Given the description of an element on the screen output the (x, y) to click on. 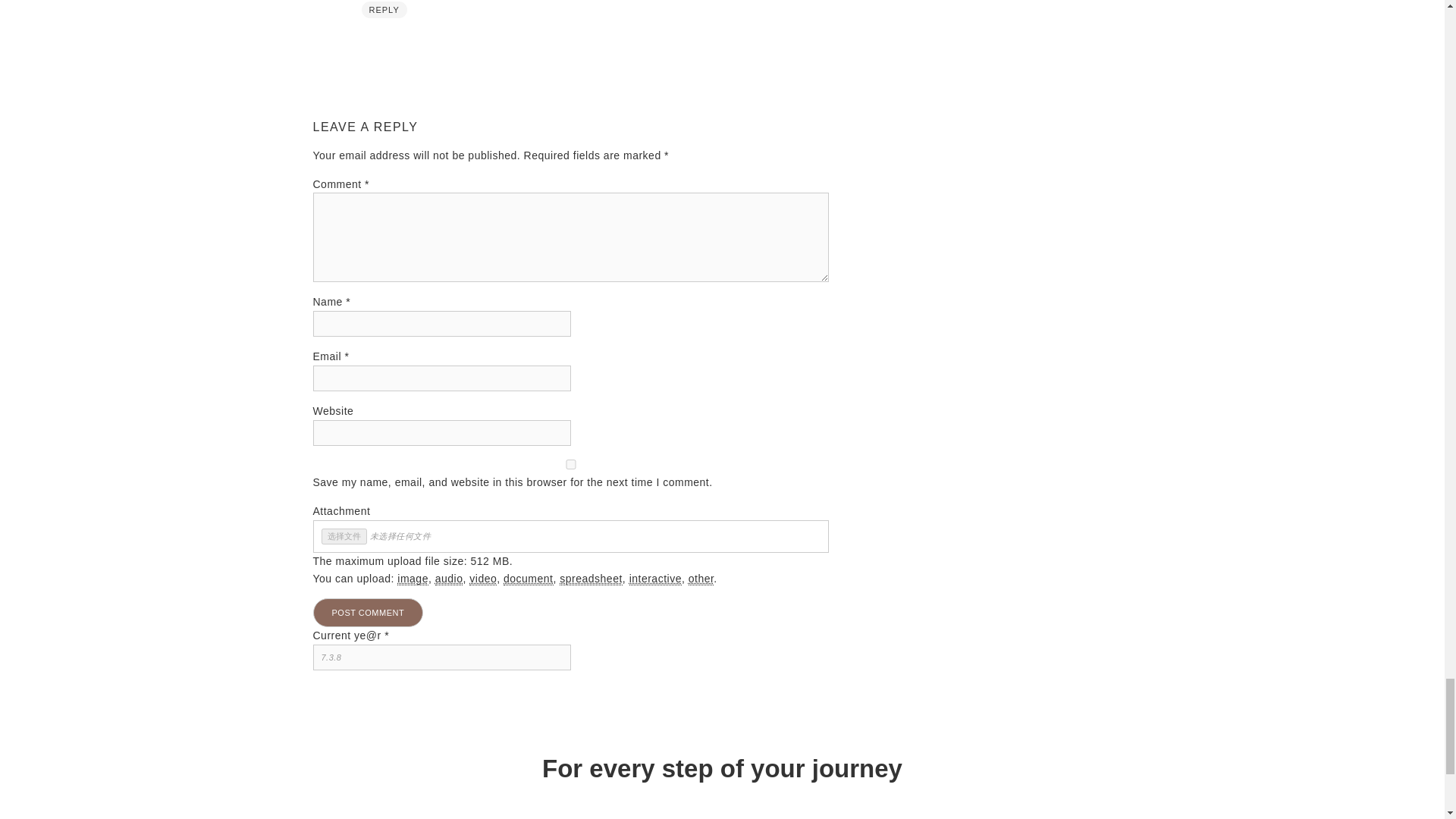
Post Comment (368, 612)
yes (570, 464)
7.3.8 (441, 657)
docx, docm, dotm, oxps, xps, odt, wp, wpd, pages (528, 578)
wav, ogg, oga, flac, wma, mka (449, 578)
jpg, jpeg, gif, png, bmp, tiff, tif, ico, heic (412, 578)
mov, qt, mpeg, mpg, mp4, m4v, ogv, mkv, 3gp, 3gpp, 3g2 (482, 578)
